Given the description of an element on the screen output the (x, y) to click on. 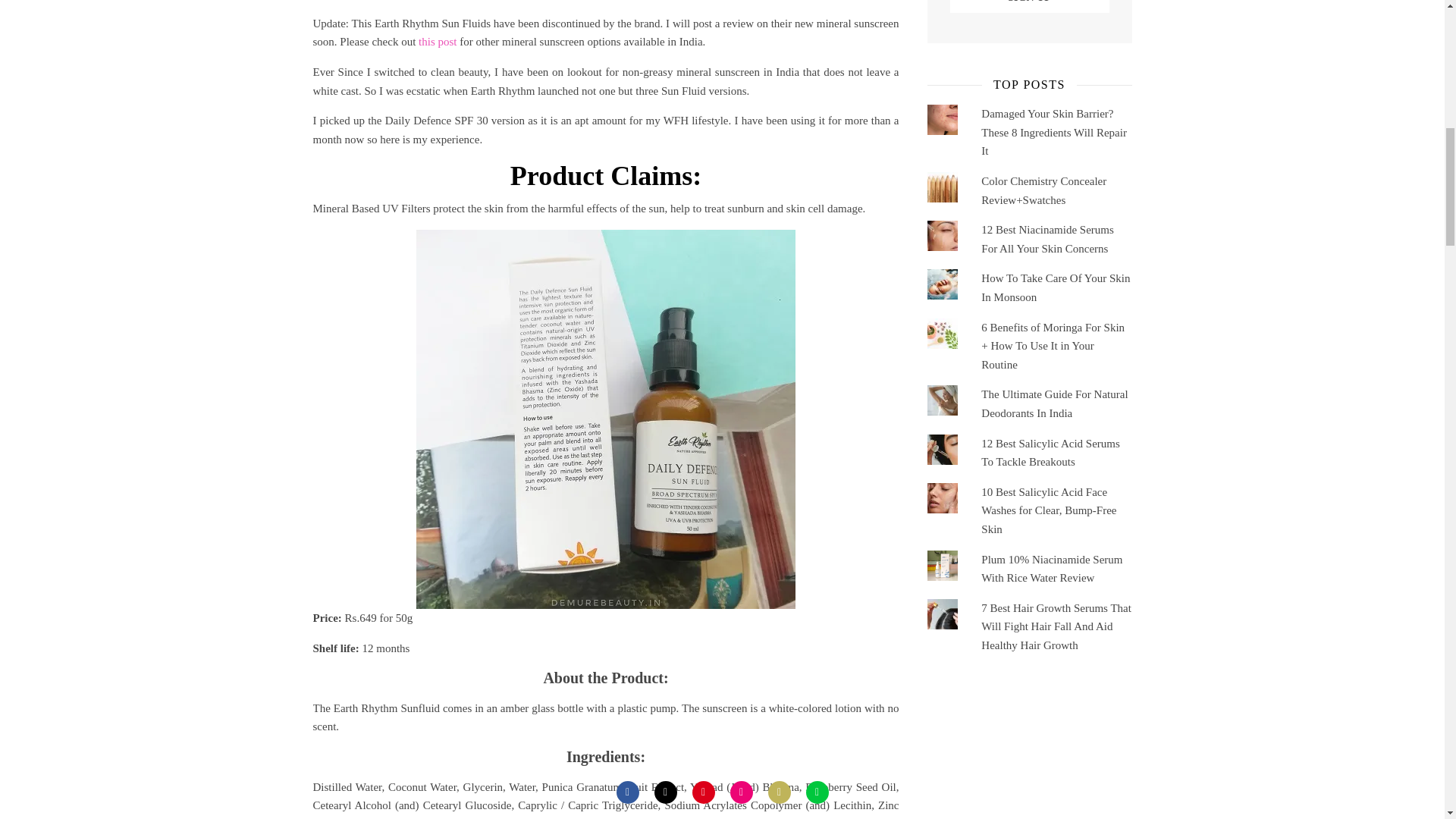
Sign up (1028, 6)
12 Best Niacinamide Serums For All Your Skin Concerns (1047, 238)
How To Take Care Of Your Skin In Monsoon (1055, 287)
